Given the description of an element on the screen output the (x, y) to click on. 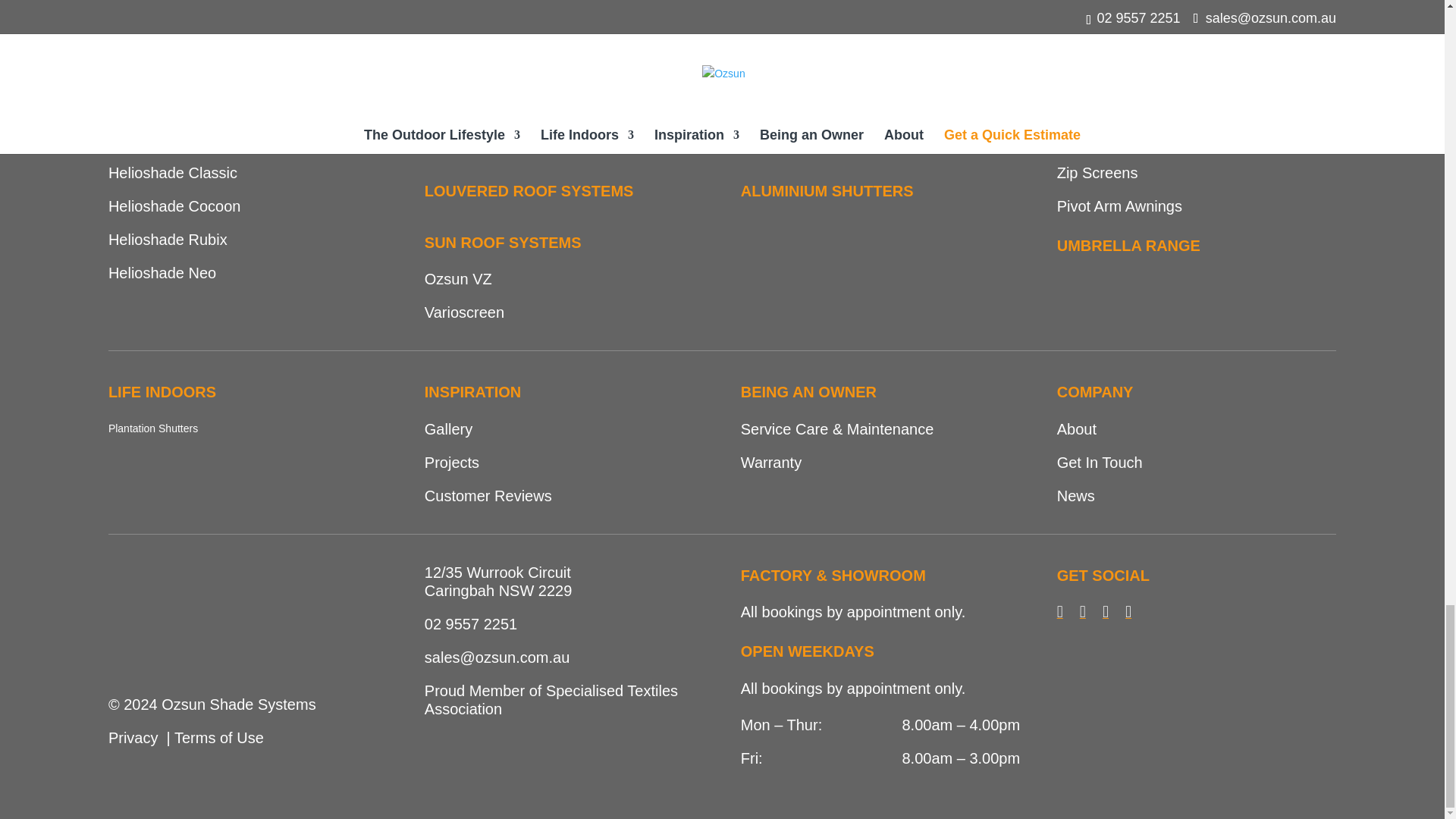
Helioshade Rubix (167, 239)
Helioshade Fabric Cassette (201, 139)
LOUVERED ROOF SYSTEMS (529, 190)
Helioshade Classic (172, 172)
Ozsun-Logo-Footer (221, 620)
RETRACTABLE ROOF SYSTEMS (543, 69)
Helioshade Full Cassette (191, 106)
Fiesta (445, 106)
Allseasons (461, 139)
Helioshade Neo (161, 272)
